Given the description of an element on the screen output the (x, y) to click on. 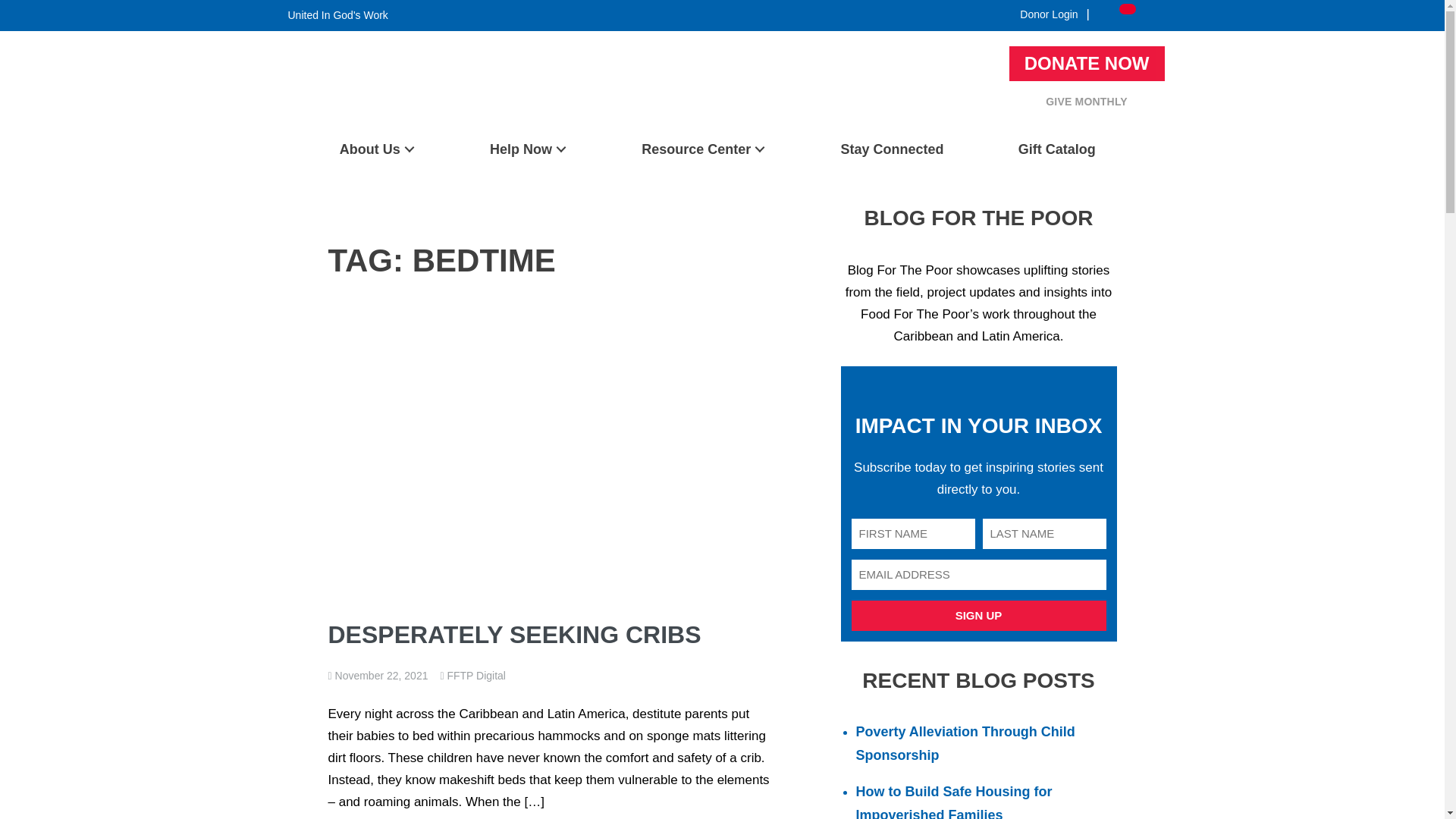
Food For The Poor (334, 123)
About Us (376, 149)
GIVE MONTHLY (1085, 101)
DONATE NOW (1086, 63)
Donor Login (1048, 14)
